Given the description of an element on the screen output the (x, y) to click on. 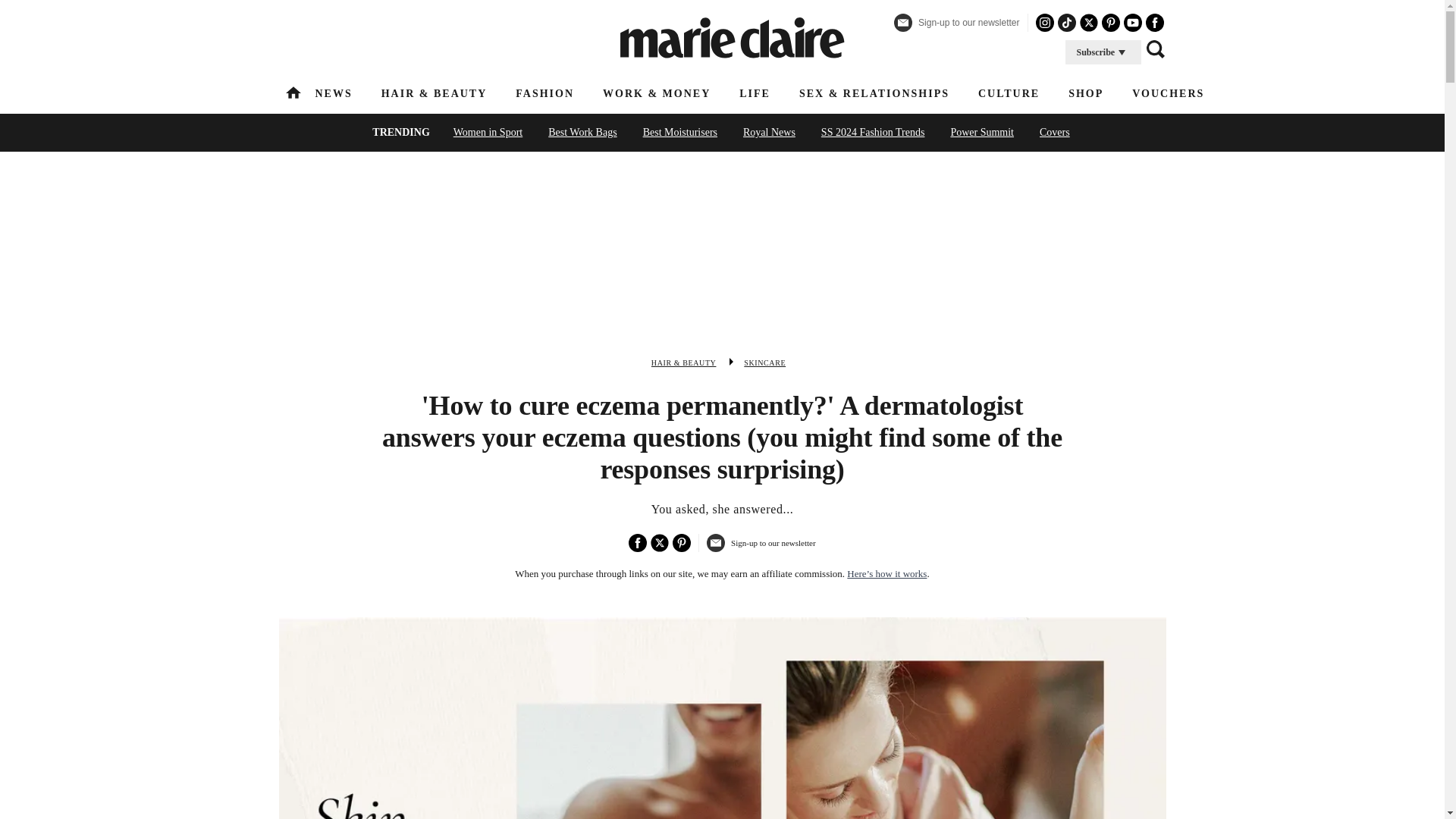
FASHION (544, 93)
NEWS (333, 93)
LIFE (754, 93)
